Given the description of an element on the screen output the (x, y) to click on. 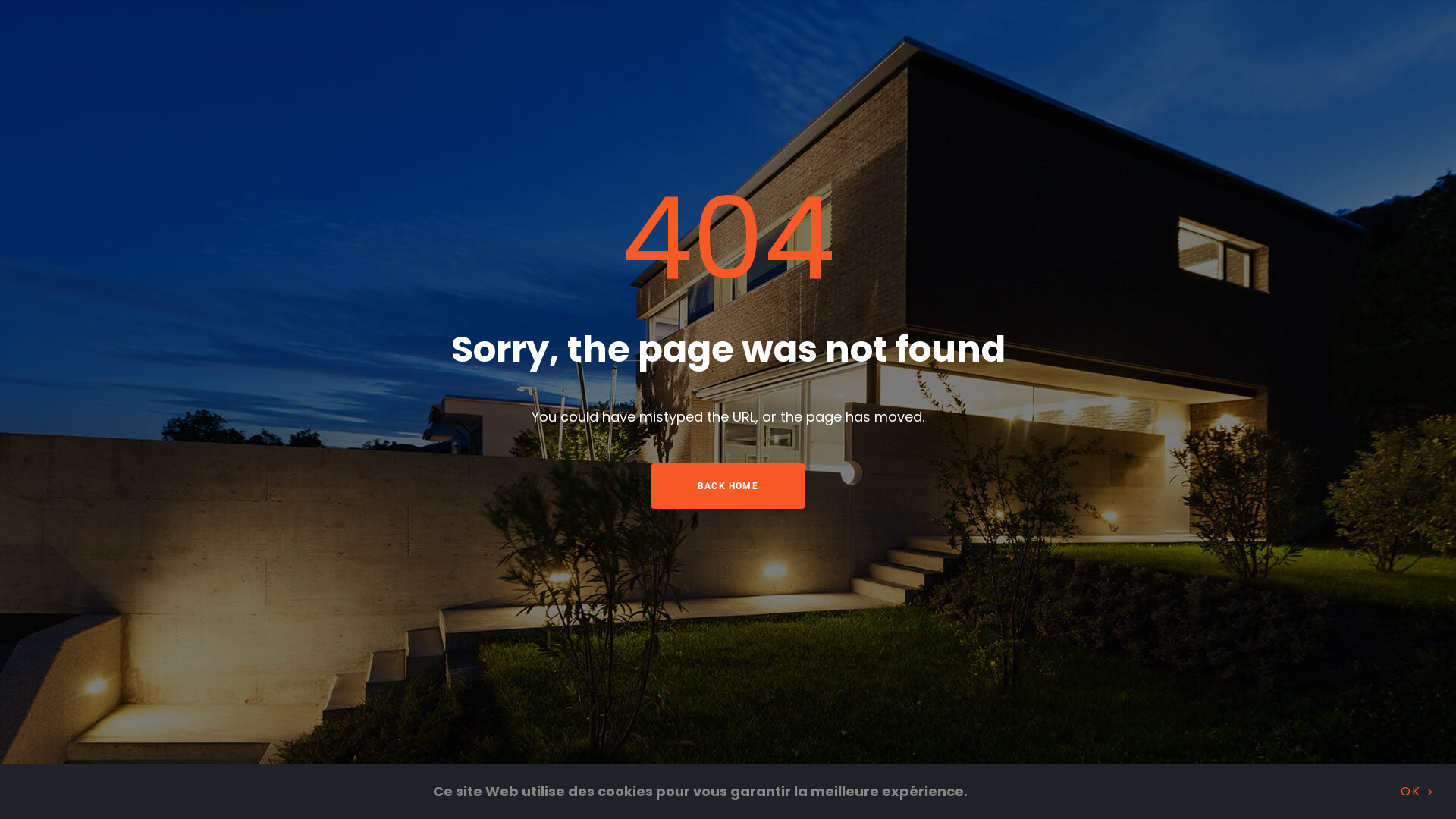
BACK HOME Element type: text (727, 485)
OK Element type: text (1416, 791)
